Given the description of an element on the screen output the (x, y) to click on. 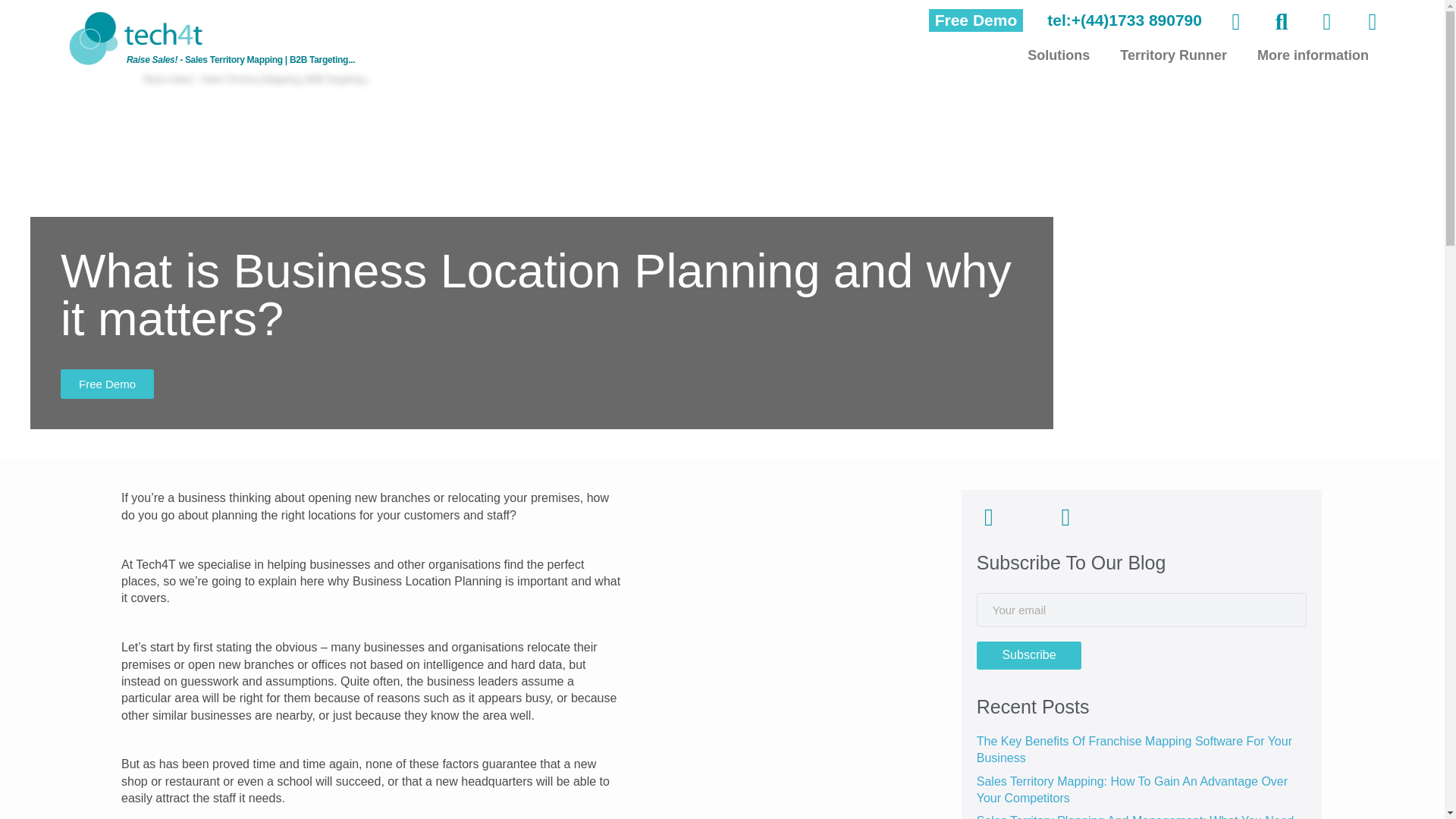
Territory Runner (1173, 54)
More information (1312, 54)
Solutions (1058, 54)
